Given the description of an element on the screen output the (x, y) to click on. 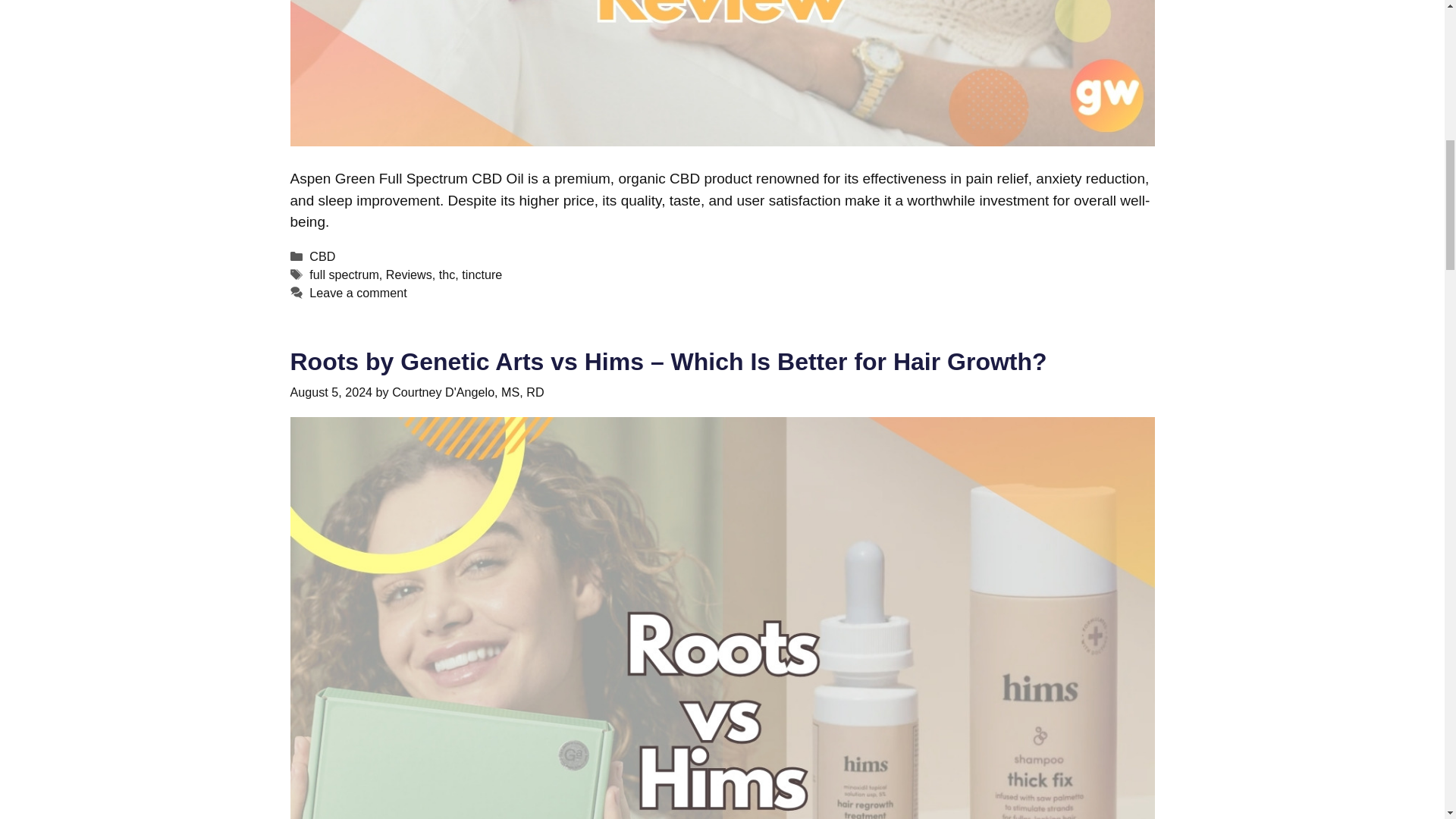
Courtney D'Angelo, MS, RD (467, 391)
Scroll back to top (1406, 720)
thc (447, 274)
Leave a comment (357, 292)
View all posts by Courtney D'Angelo, MS, RD (467, 391)
CBD (321, 255)
full spectrum (343, 274)
Reviews (408, 274)
tincture (481, 274)
